Given the description of an element on the screen output the (x, y) to click on. 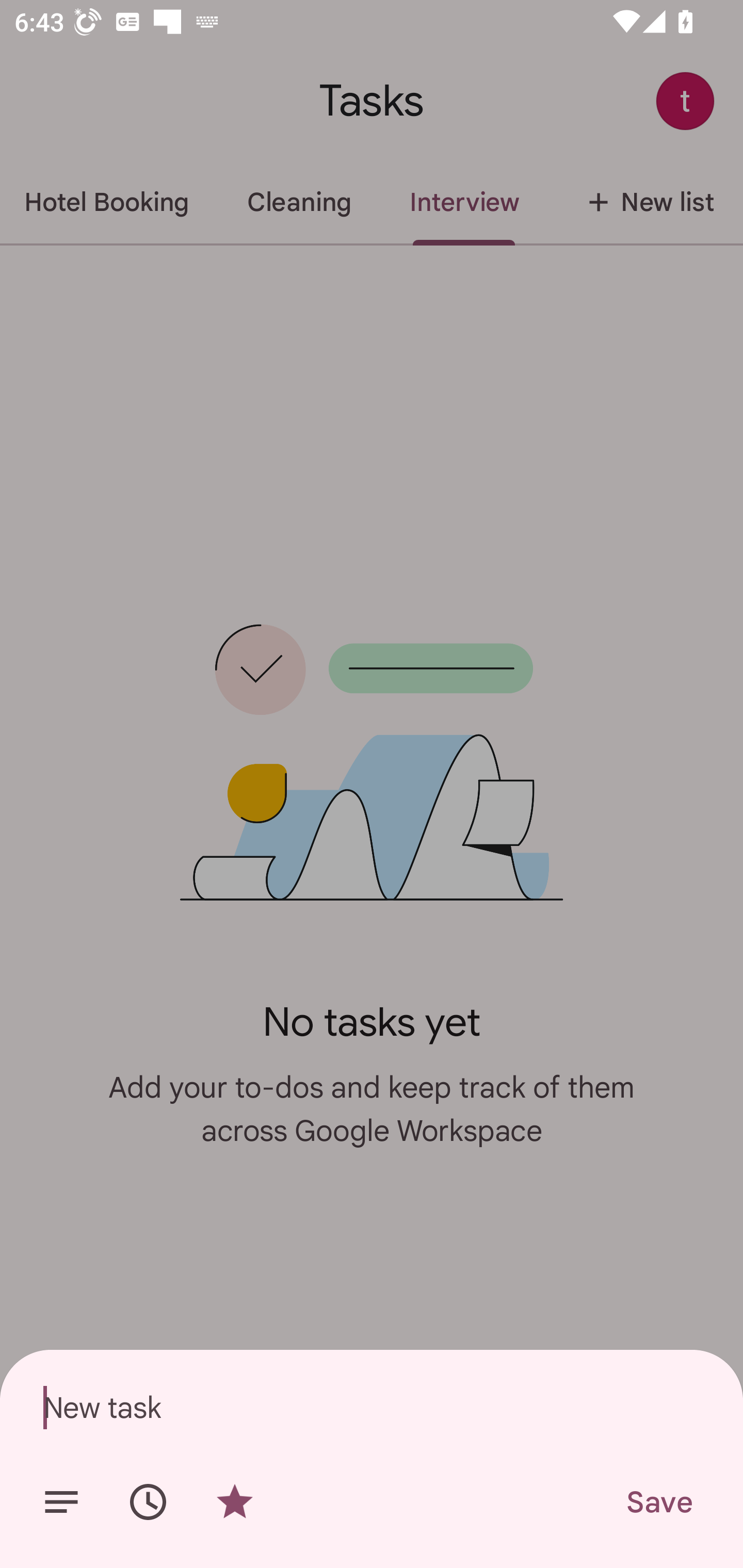
New task (371, 1407)
Save (659, 1501)
Add details (60, 1501)
Set date/time (147, 1501)
Remove star (234, 1501)
